Given the description of an element on the screen output the (x, y) to click on. 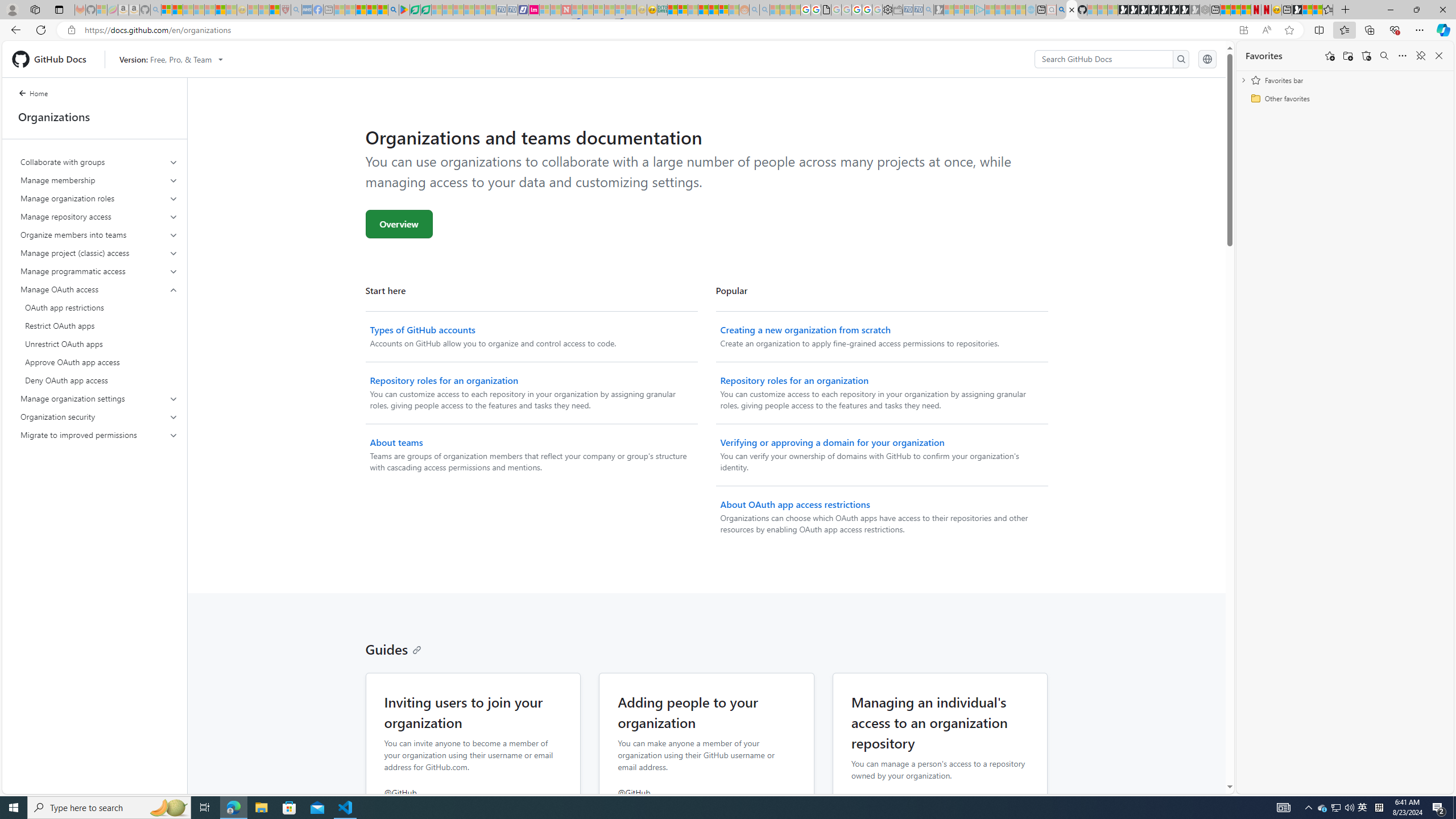
Organizations and teams documentation - GitHub Docs (1071, 9)
MSNBC - MSN - Sleeping (339, 9)
Migrate to improved permissions (99, 434)
